Given the description of an element on the screen output the (x, y) to click on. 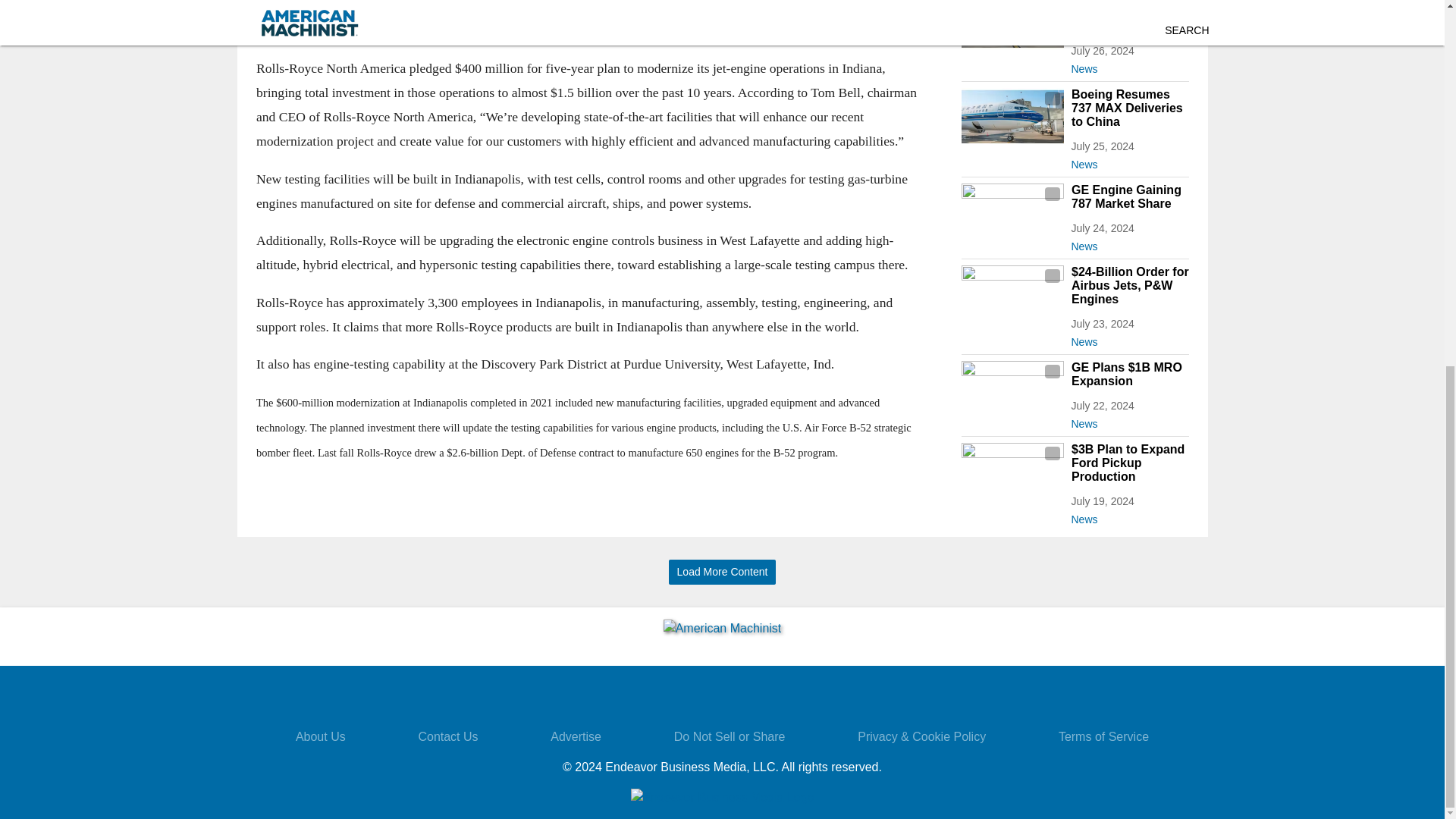
News (1129, 243)
News (1129, 420)
About Us (320, 736)
Contact Us (447, 736)
Boeing Admits Guilt, Agrees to Fine (1129, 16)
Boeing Resumes 737 MAX Deliveries to China (1129, 107)
News (1129, 65)
News (1129, 515)
GE Engine Gaining 787 Market Share (1129, 196)
Do Not Sell or Share (730, 736)
Load More Content (722, 571)
News (1129, 161)
Advertise (575, 736)
News (1129, 339)
Terms of Service (1103, 736)
